Given the description of an element on the screen output the (x, y) to click on. 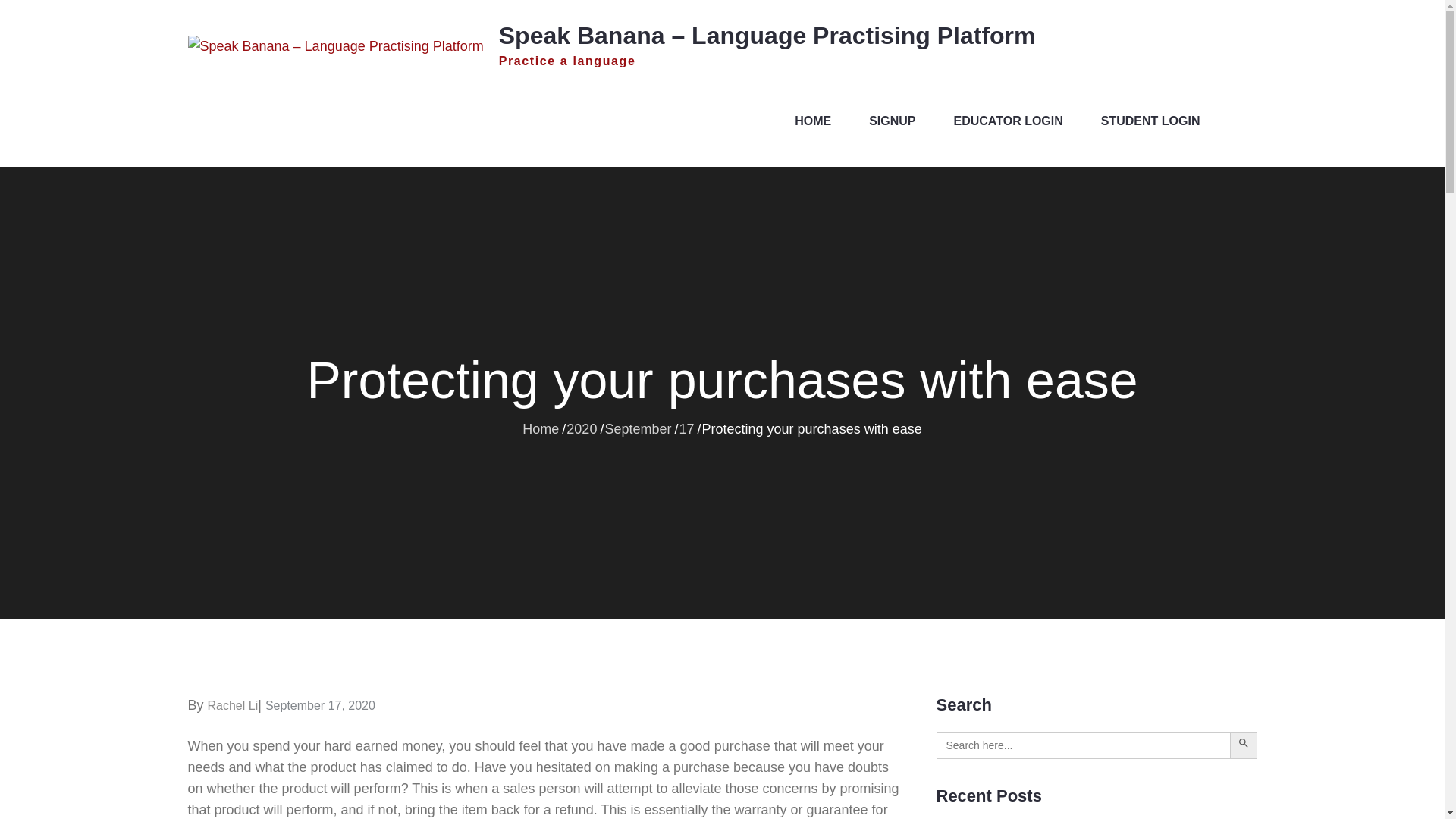
STUDENT LOGIN (1150, 121)
SIGNUP (892, 121)
HOME (812, 121)
17 (686, 427)
Home (540, 427)
September 17, 2020 (319, 705)
EDUCATOR LOGIN (1008, 121)
Rachel Li (233, 705)
Main Page (812, 121)
2020 (581, 427)
